Given the description of an element on the screen output the (x, y) to click on. 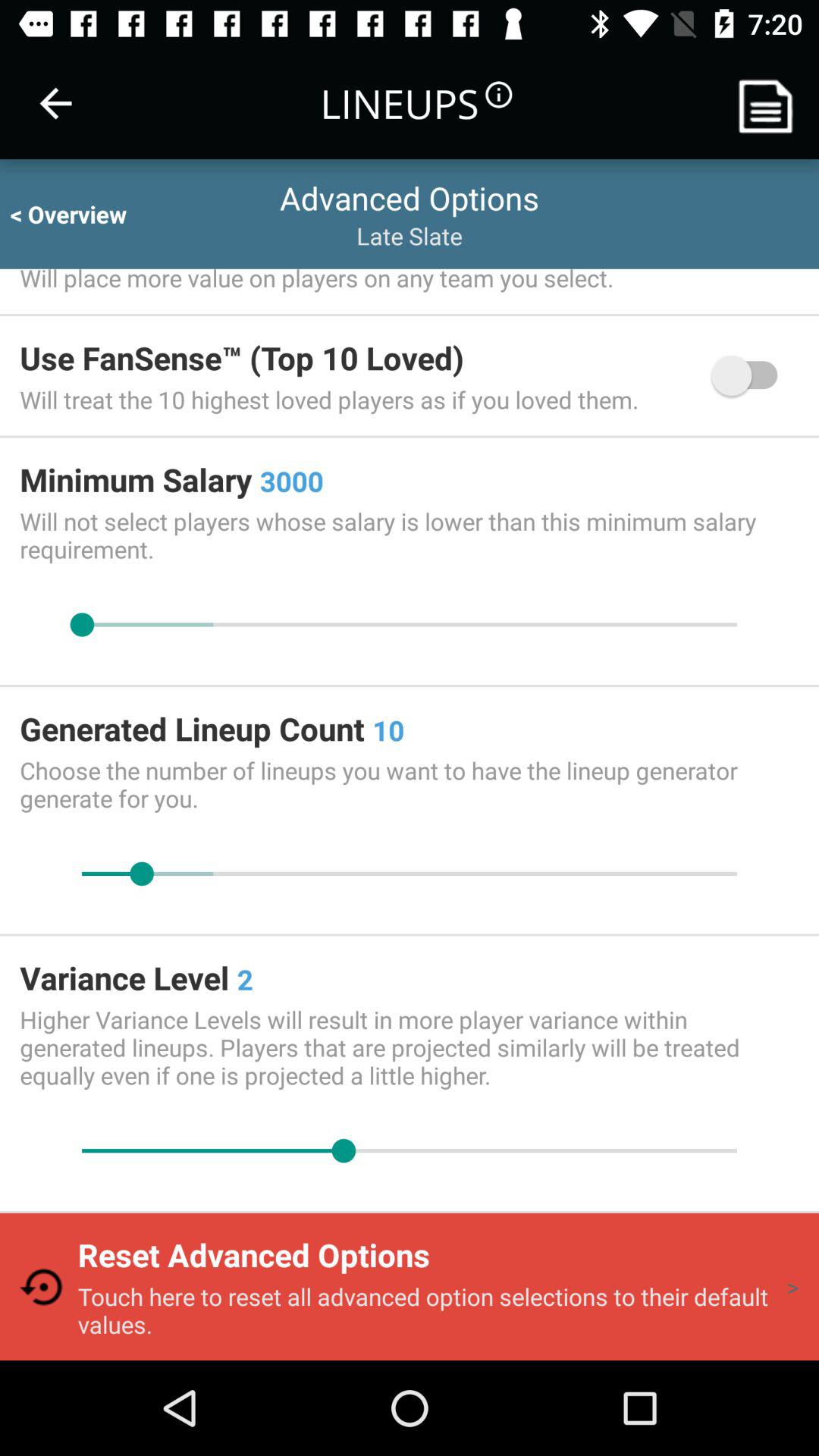
choose minimum salary (409, 624)
